Given the description of an element on the screen output the (x, y) to click on. 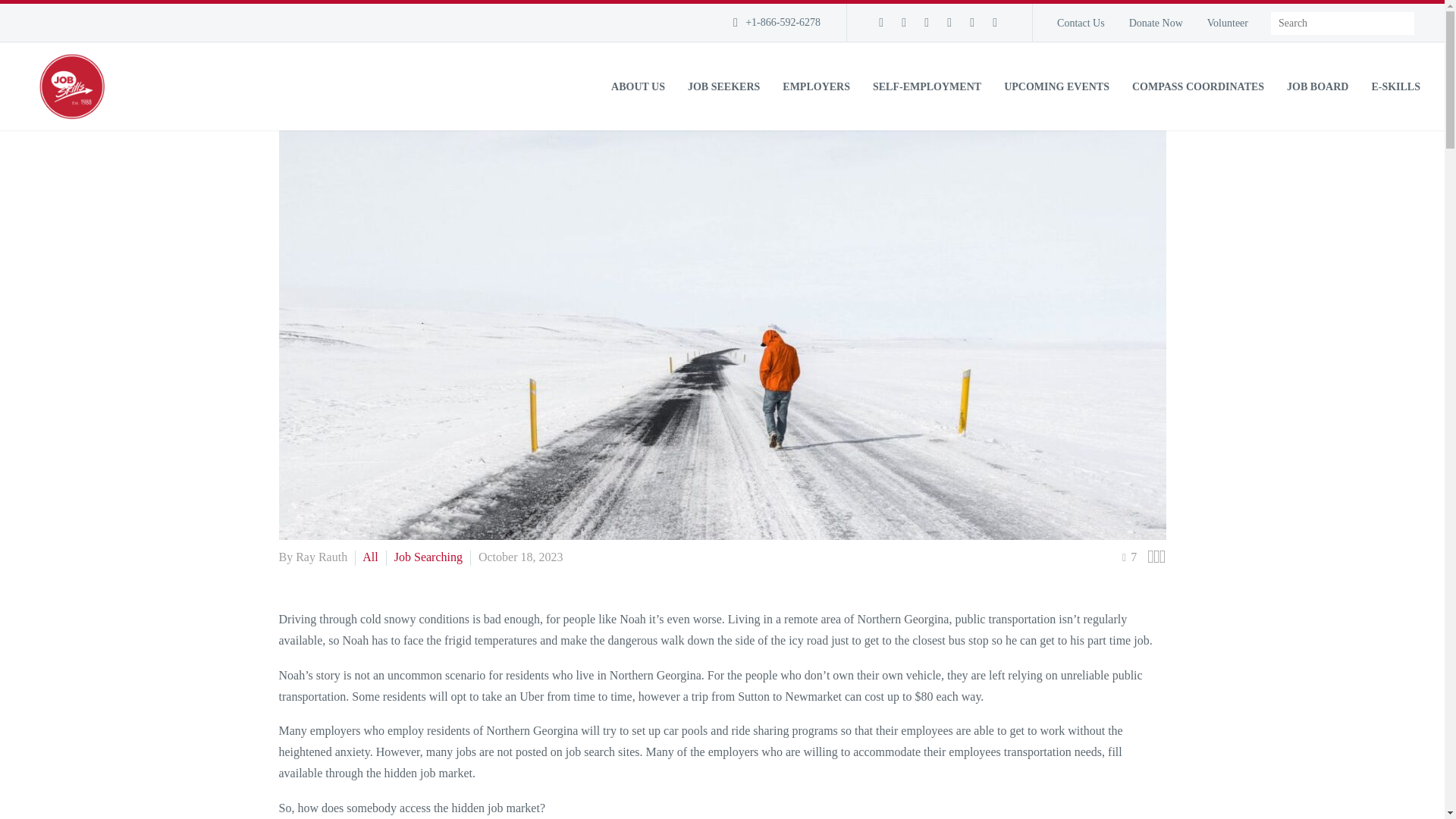
JOB SEEKERS (724, 86)
YouTube (972, 22)
EMPLOYERS (816, 86)
TikTok (995, 22)
View all posts in Job Searching (428, 556)
Twitter (926, 22)
Facebook (880, 22)
Instagram (948, 22)
LinkedIn (903, 22)
Donate Now (1154, 23)
ABOUT US (638, 86)
SELF-EMPLOYMENT (926, 86)
Volunteer (1226, 23)
View all posts in All (369, 556)
Contact Us (1080, 23)
